Given the description of an element on the screen output the (x, y) to click on. 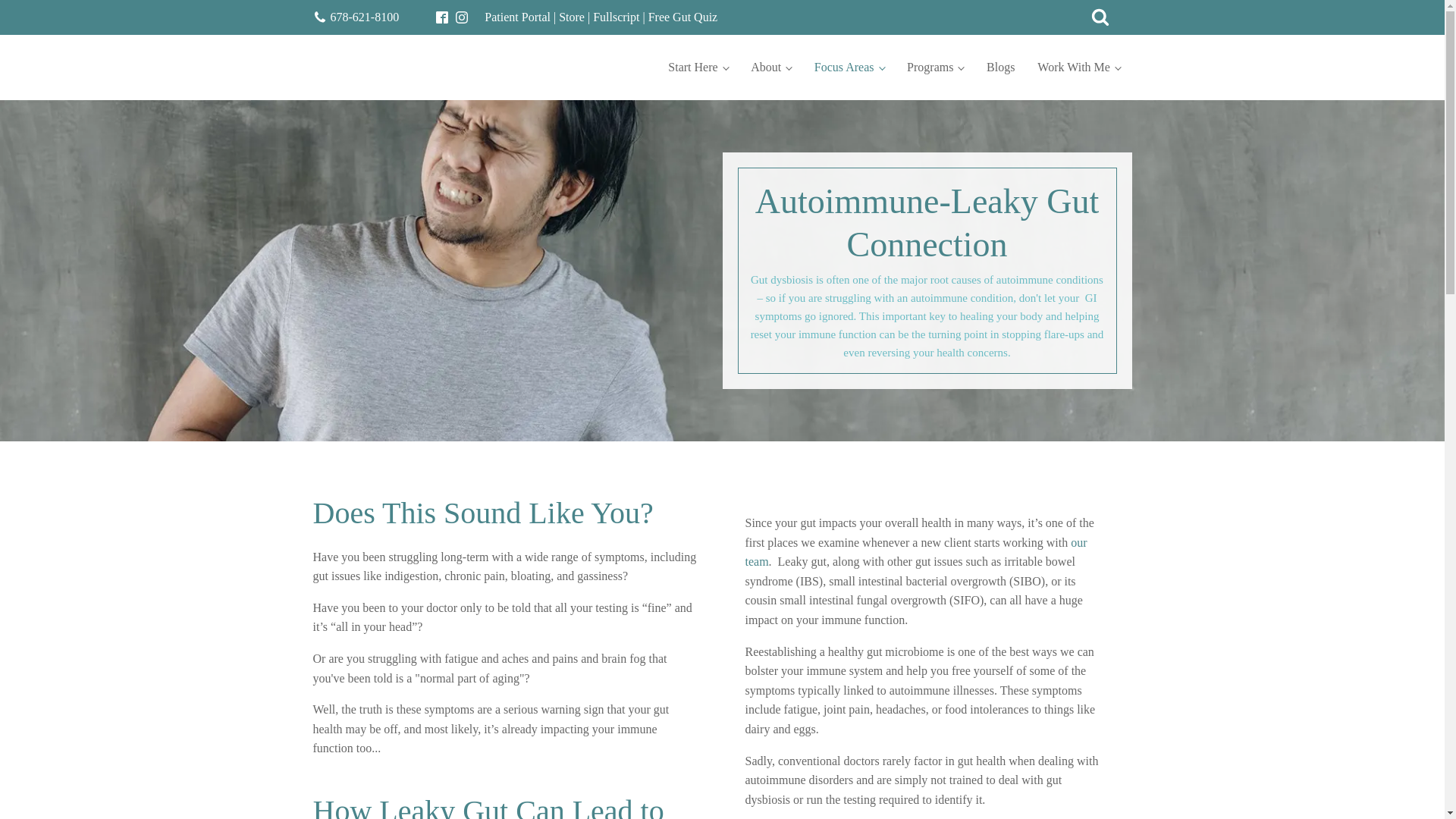
Start Here (697, 67)
Free Gut Quiz (682, 16)
Patient Portal (517, 16)
Fullscript (615, 16)
Focus Areas (849, 67)
678-621-8100 (364, 16)
Programs (935, 67)
About (771, 67)
Blogs (1000, 67)
Store (572, 16)
